Given the description of an element on the screen output the (x, y) to click on. 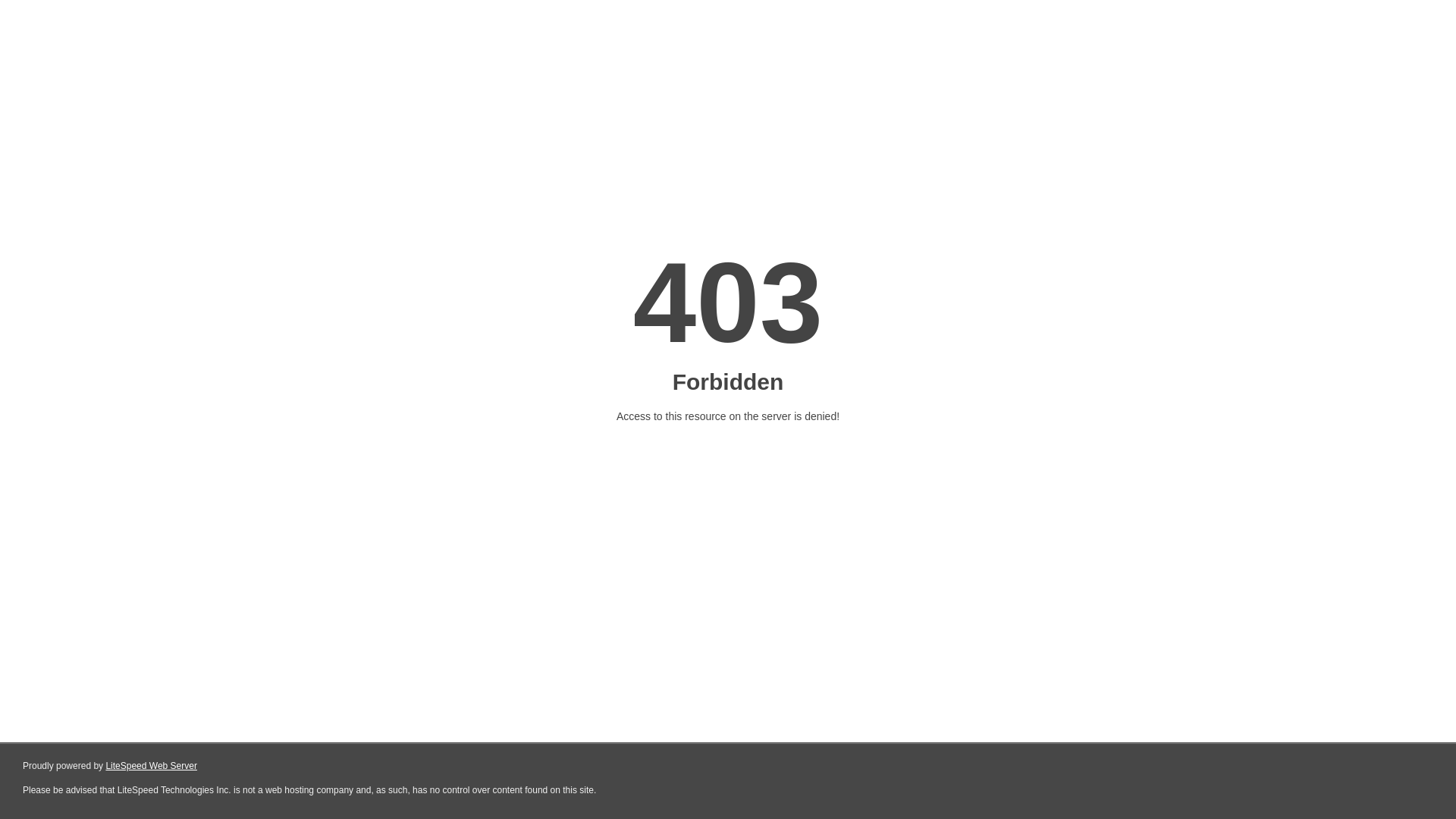
LiteSpeed Web Server Element type: text (151, 765)
